Given the description of an element on the screen output the (x, y) to click on. 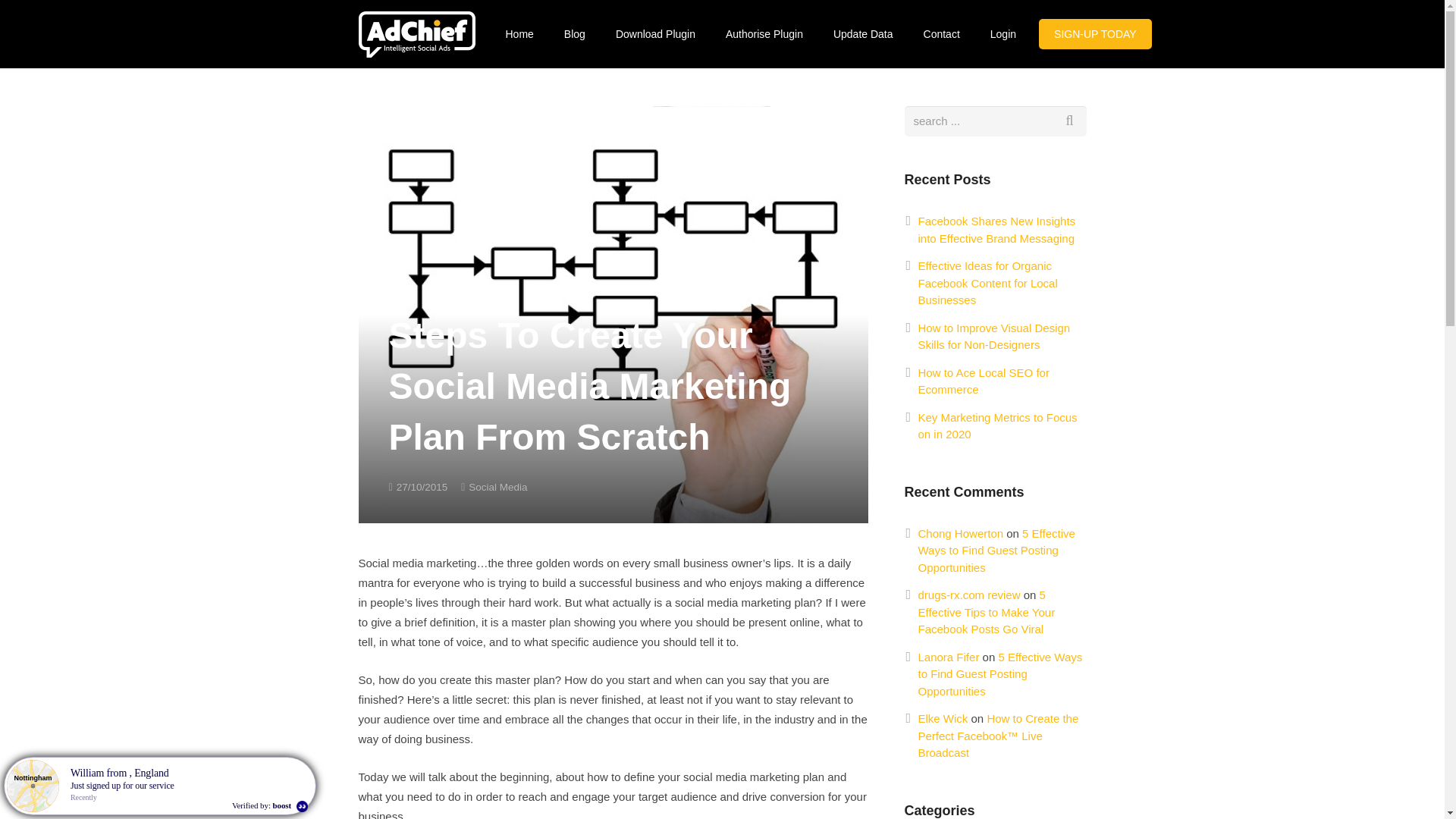
Chong Howerton (960, 533)
drugs-rx.com review (968, 594)
5 Effective Ways to Find Guest Posting Opportunities (995, 550)
How to Improve Visual Design Skills for Non-Designers (993, 336)
Facebook Shares New Insights into Effective Brand Messaging (996, 229)
Social Media (497, 487)
Lanora Fifer (947, 656)
Elke Wick (942, 717)
Contact (941, 33)
Key Marketing Metrics to Focus on in 2020 (997, 426)
How to Ace Local SEO for Ecommerce (982, 381)
Download Plugin (654, 33)
Authorise Plugin (764, 33)
5 Effective Ways to Find Guest Posting Opportunities (999, 673)
